Given the description of an element on the screen output the (x, y) to click on. 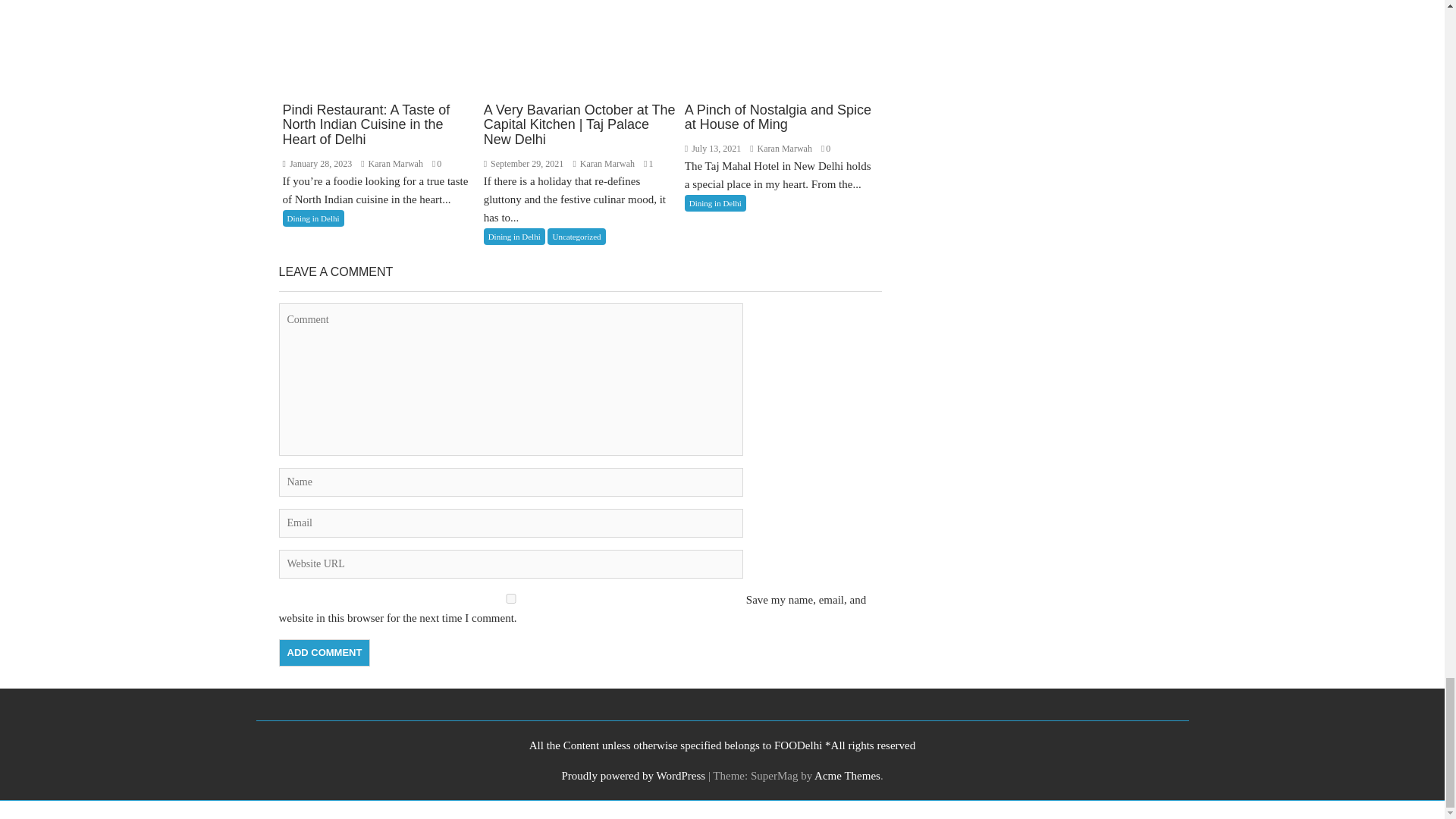
Karan Marwah (781, 148)
Karan Marwah (604, 163)
yes (511, 598)
Add Comment (325, 652)
Karan Marwah (393, 163)
